Given the description of an element on the screen output the (x, y) to click on. 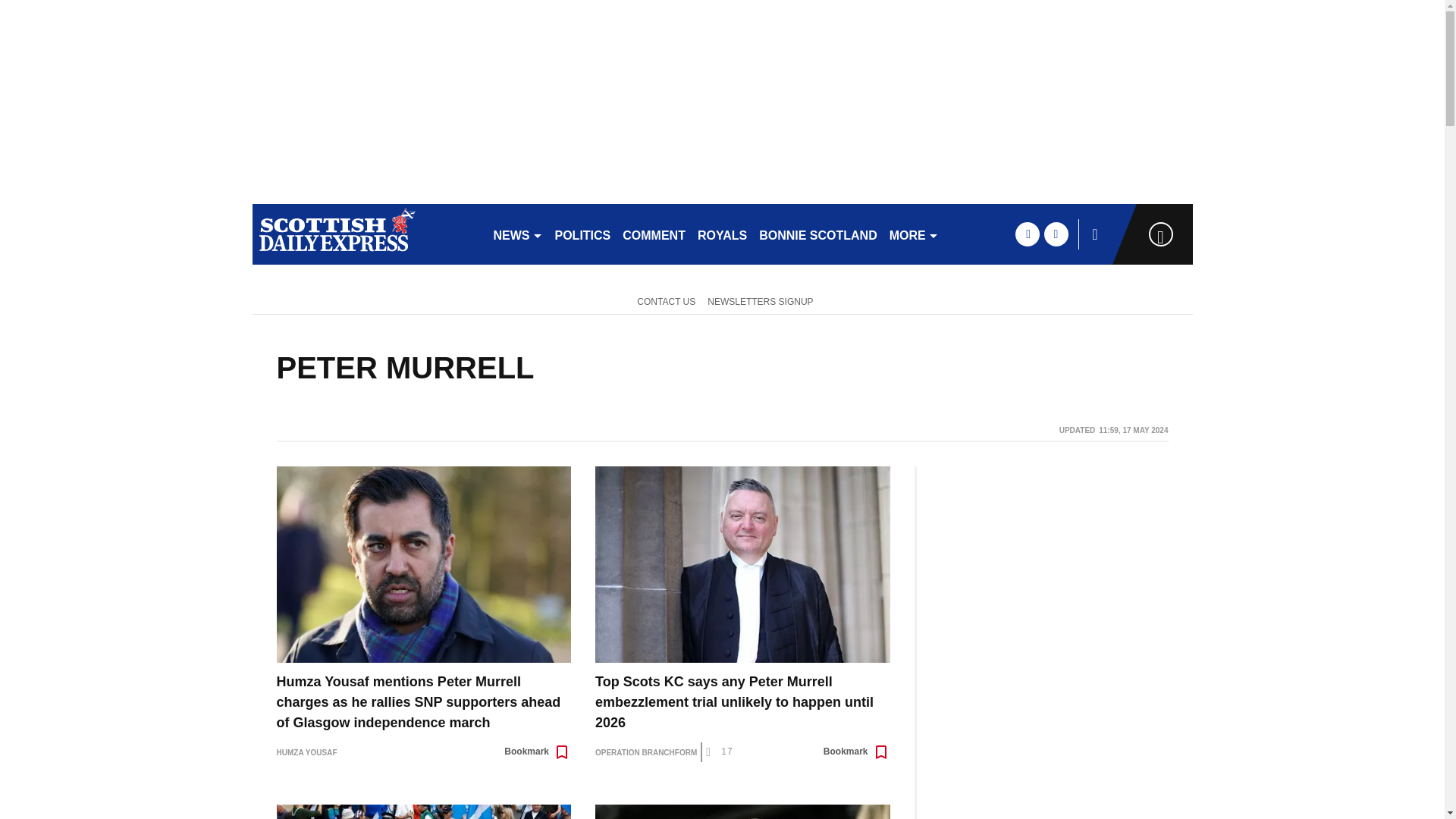
NEWSLETTERS SIGNUP (759, 300)
MORE (913, 233)
scottishdailyexpress (365, 233)
COMMENT (653, 233)
facebook (1026, 233)
POLITICS (582, 233)
NEWS (517, 233)
twitter (1055, 233)
BONNIE SCOTLAND (817, 233)
